Given the description of an element on the screen output the (x, y) to click on. 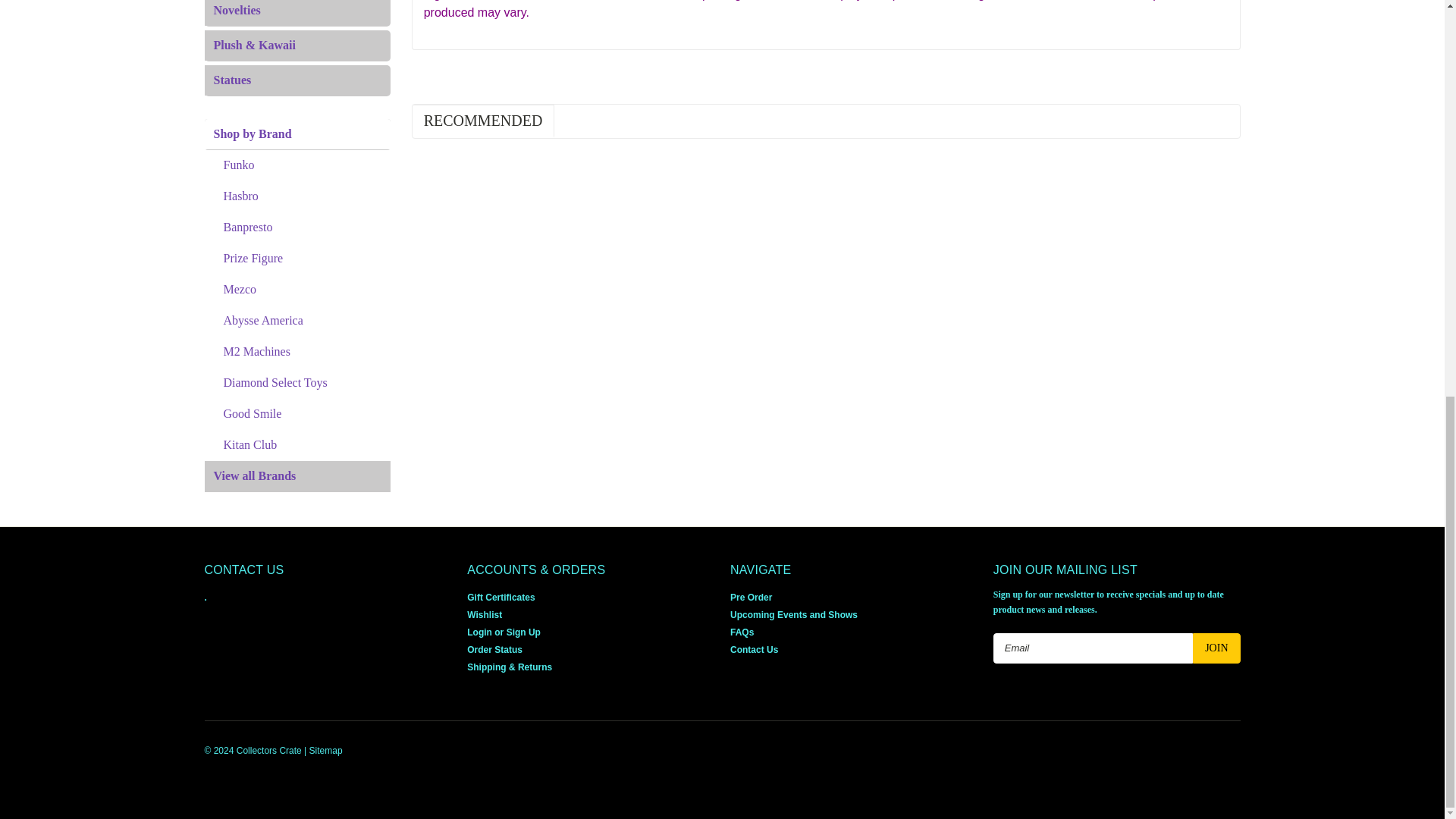
Join (1216, 648)
